Given the description of an element on the screen output the (x, y) to click on. 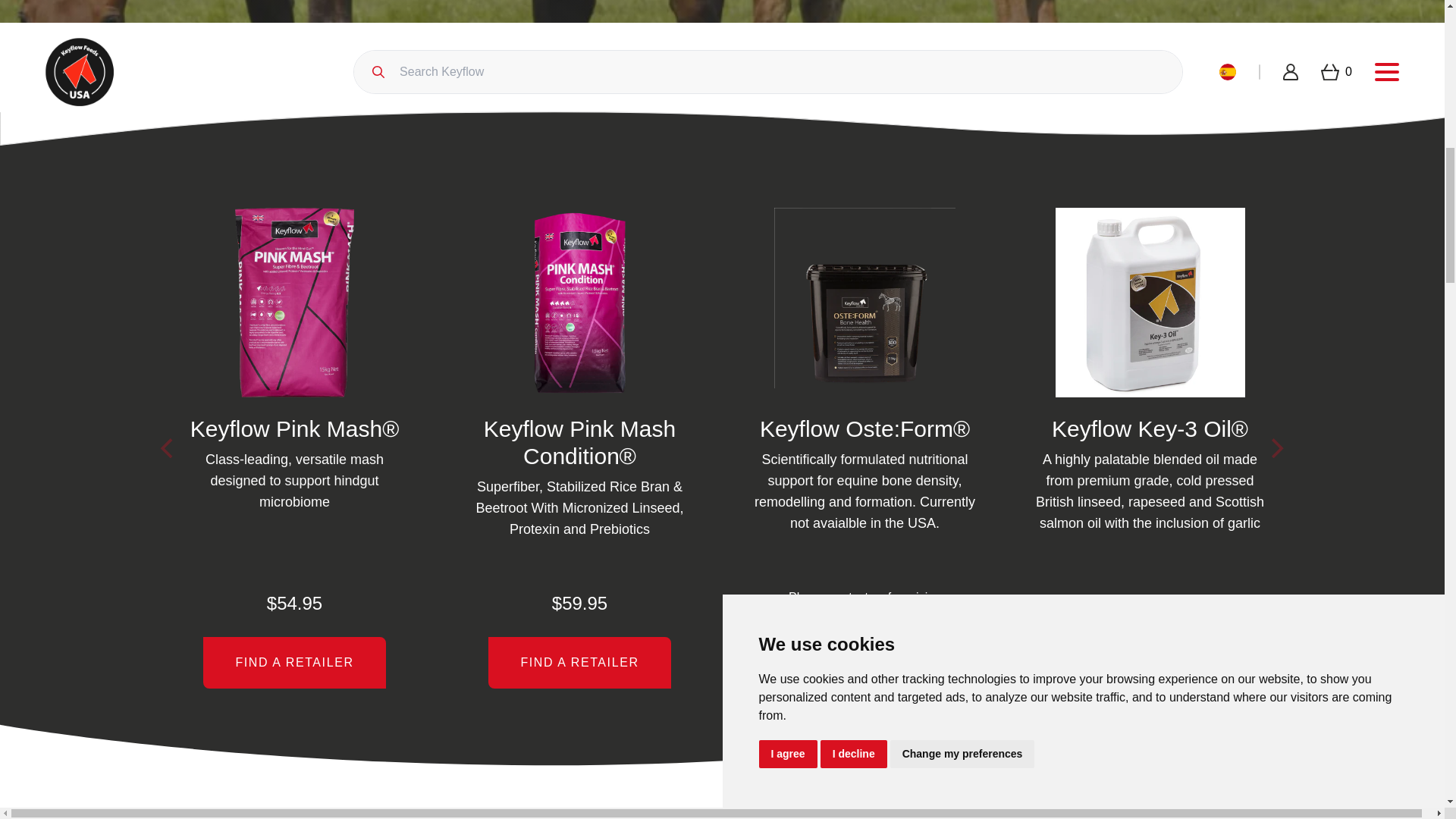
FIND A RETAILER (294, 662)
FIND A RETAILER (578, 662)
FIND A RETAILER (1149, 662)
FIND A RETAILER (864, 662)
